Given the description of an element on the screen output the (x, y) to click on. 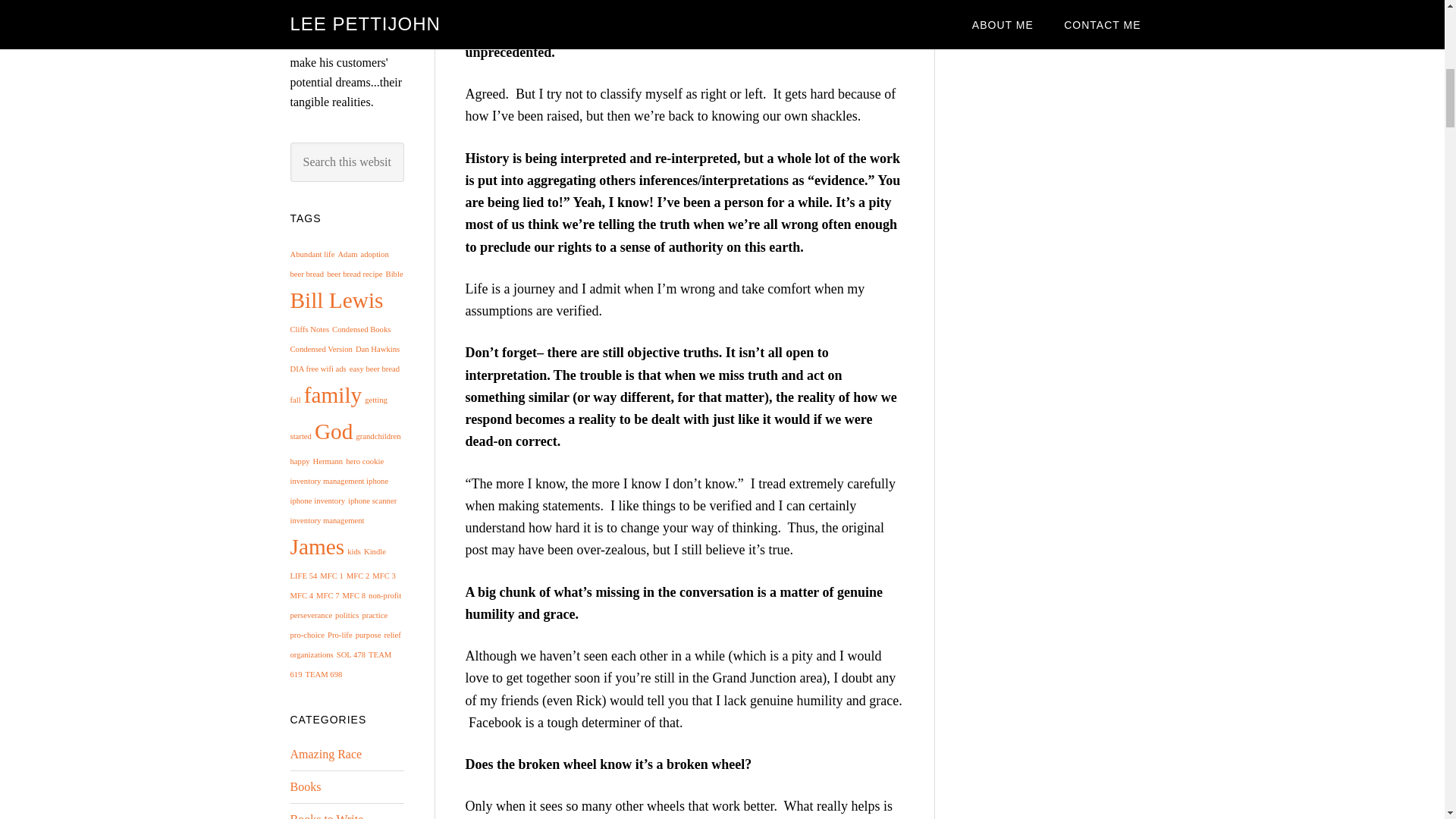
Abundant life (311, 254)
Condensed Books (360, 329)
Bill Lewis (335, 300)
beer bread (306, 274)
Bible (394, 274)
Cliffs Notes (309, 329)
adoption (373, 254)
Adam (346, 254)
beer bread recipe (353, 274)
